Given the description of an element on the screen output the (x, y) to click on. 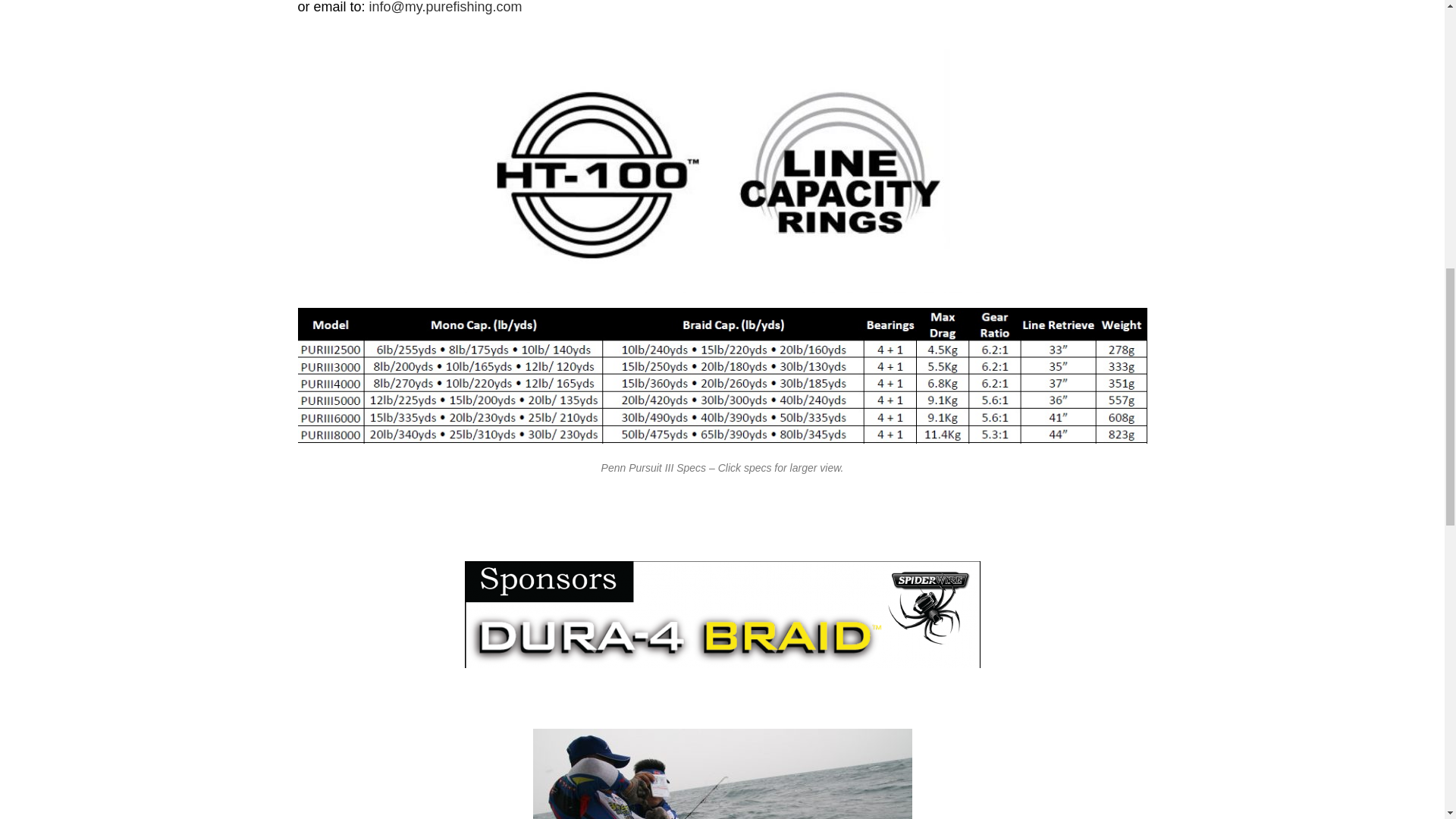
pennpursuit3features (721, 170)
fishfight (721, 773)
spiderwiredura4 (721, 614)
